Given the description of an element on the screen output the (x, y) to click on. 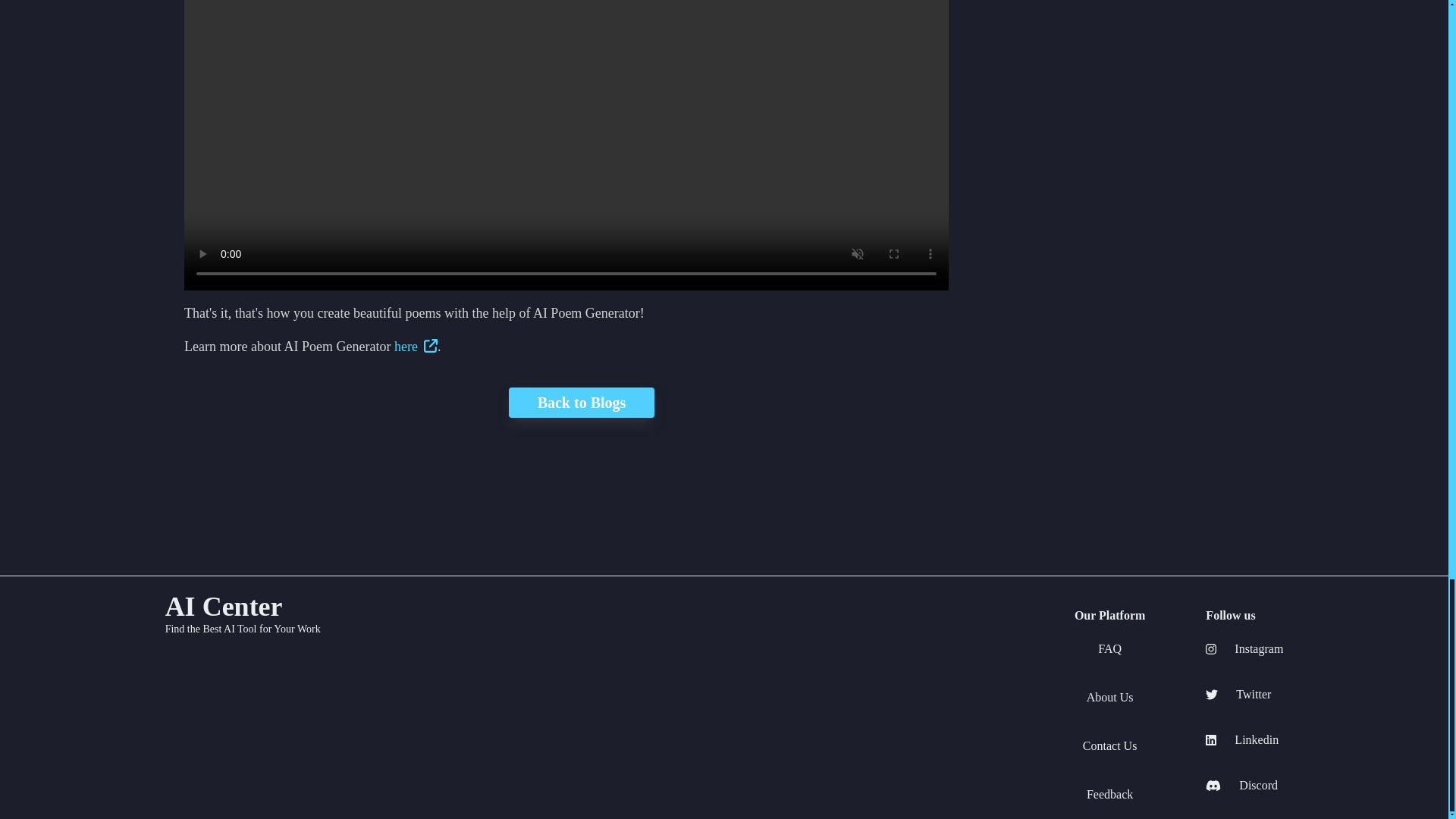
Feedback (1109, 793)
Back to Blogs (580, 402)
FAQ (1109, 648)
here (416, 346)
Back to Blogs (566, 402)
About Us (1110, 697)
